Given the description of an element on the screen output the (x, y) to click on. 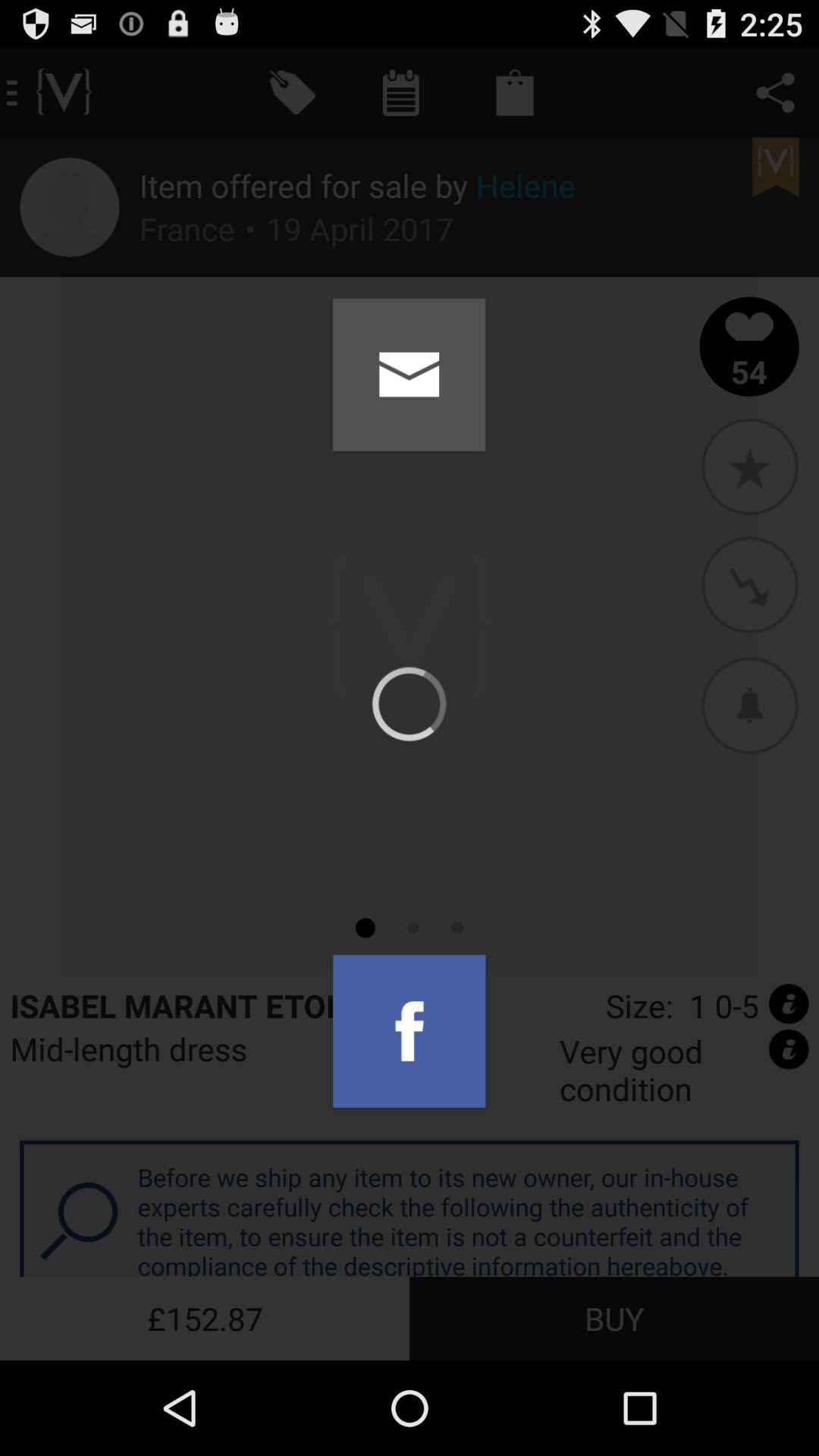
turn off item offered for icon (357, 185)
